Given the description of an element on the screen output the (x, y) to click on. 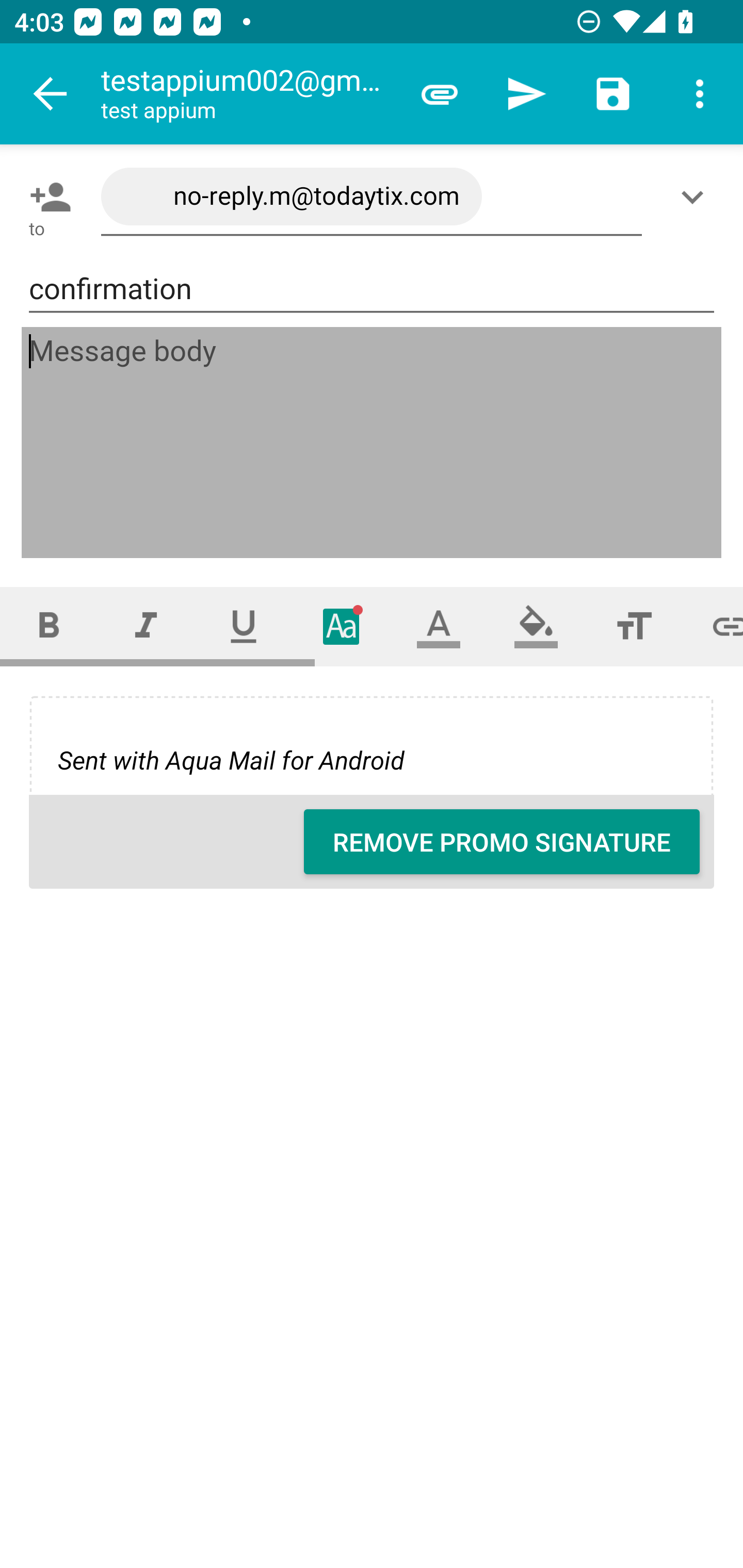
Navigate up (50, 93)
testappium002@gmail.com test appium (248, 93)
Attach (439, 93)
Send (525, 93)
Save (612, 93)
More options (699, 93)
no-reply.m@todaytix.com,  (371, 197)
Pick contact: To (46, 196)
Show/Add CC/BCC (696, 196)
confirmation (371, 288)
Message body (372, 442)
Bold (48, 626)
Italic (145, 626)
Underline (243, 626)
Typeface (font) (341, 626)
Text color (438, 626)
Fill color (536, 626)
Font size (633, 626)
REMOVE PROMO SIGNATURE (501, 841)
